Given the description of an element on the screen output the (x, y) to click on. 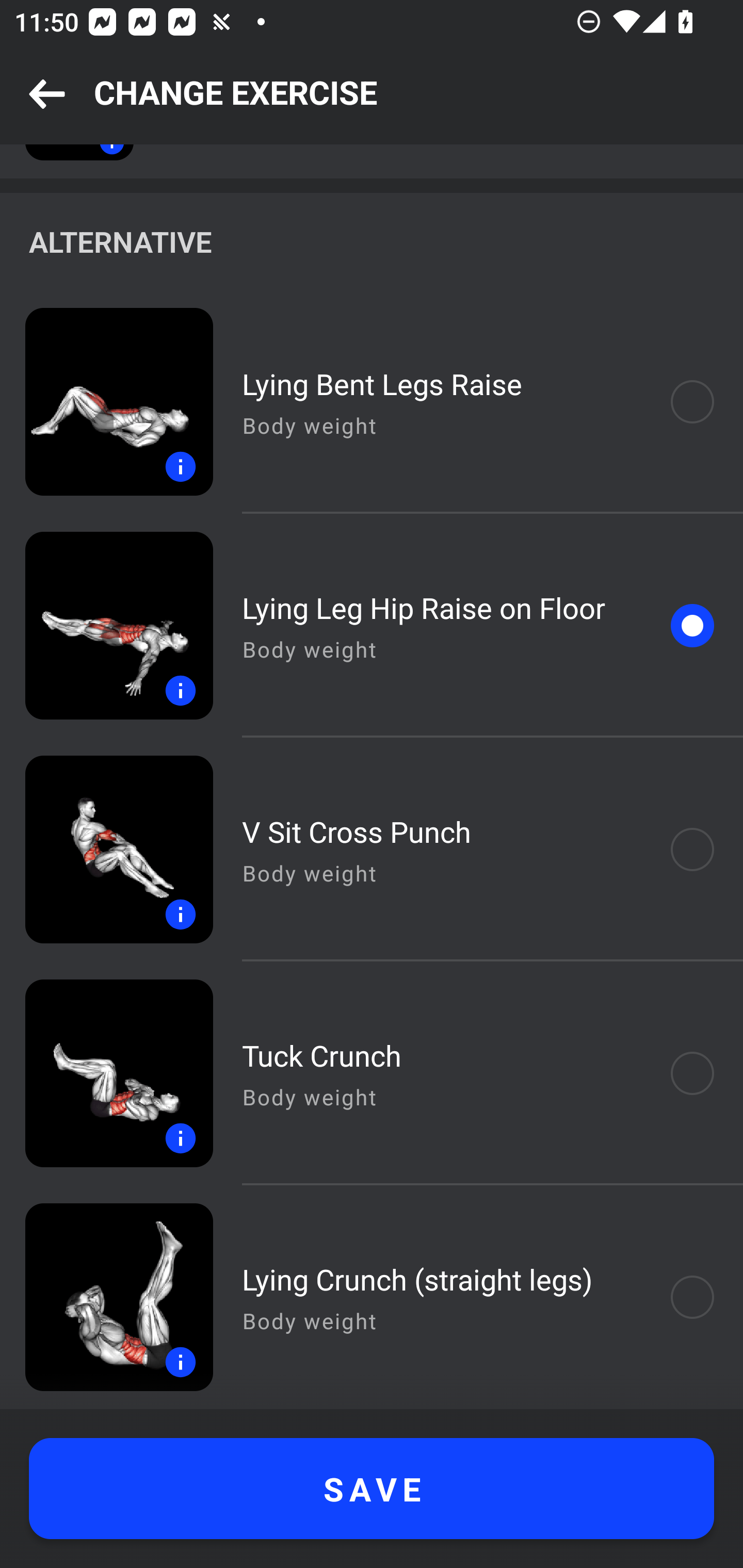
Navigation icon (46, 94)
details Lying Bent Legs Raise Body weight (371, 402)
details (106, 402)
details Lying Leg Hip Raise on Floor Body weight (371, 625)
details (106, 625)
details V Sit Cross Punch Body weight (371, 848)
details (106, 848)
details Tuck Crunch Body weight (371, 1073)
details (106, 1073)
details Lying Crunch (straight legs) Body weight (371, 1297)
details (106, 1297)
SAVE (371, 1488)
